Given the description of an element on the screen output the (x, y) to click on. 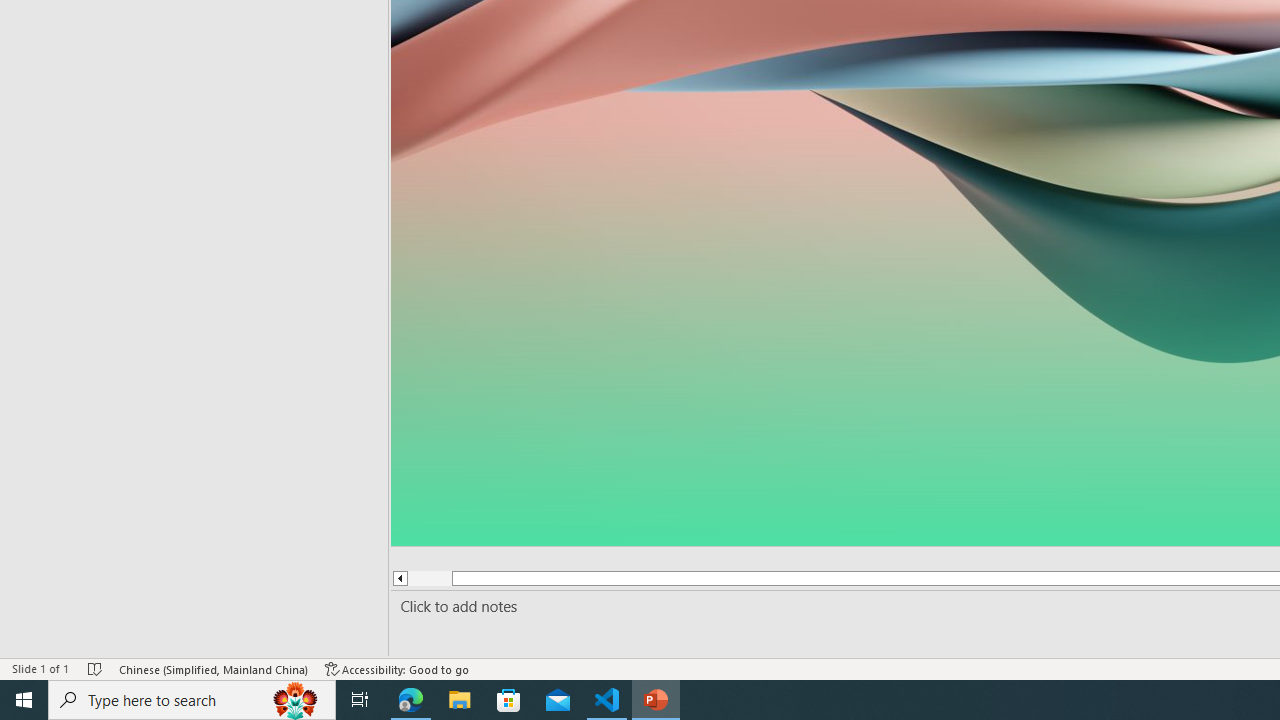
Accessibility Checker Accessibility: Good to go (397, 668)
